Given the description of an element on the screen output the (x, y) to click on. 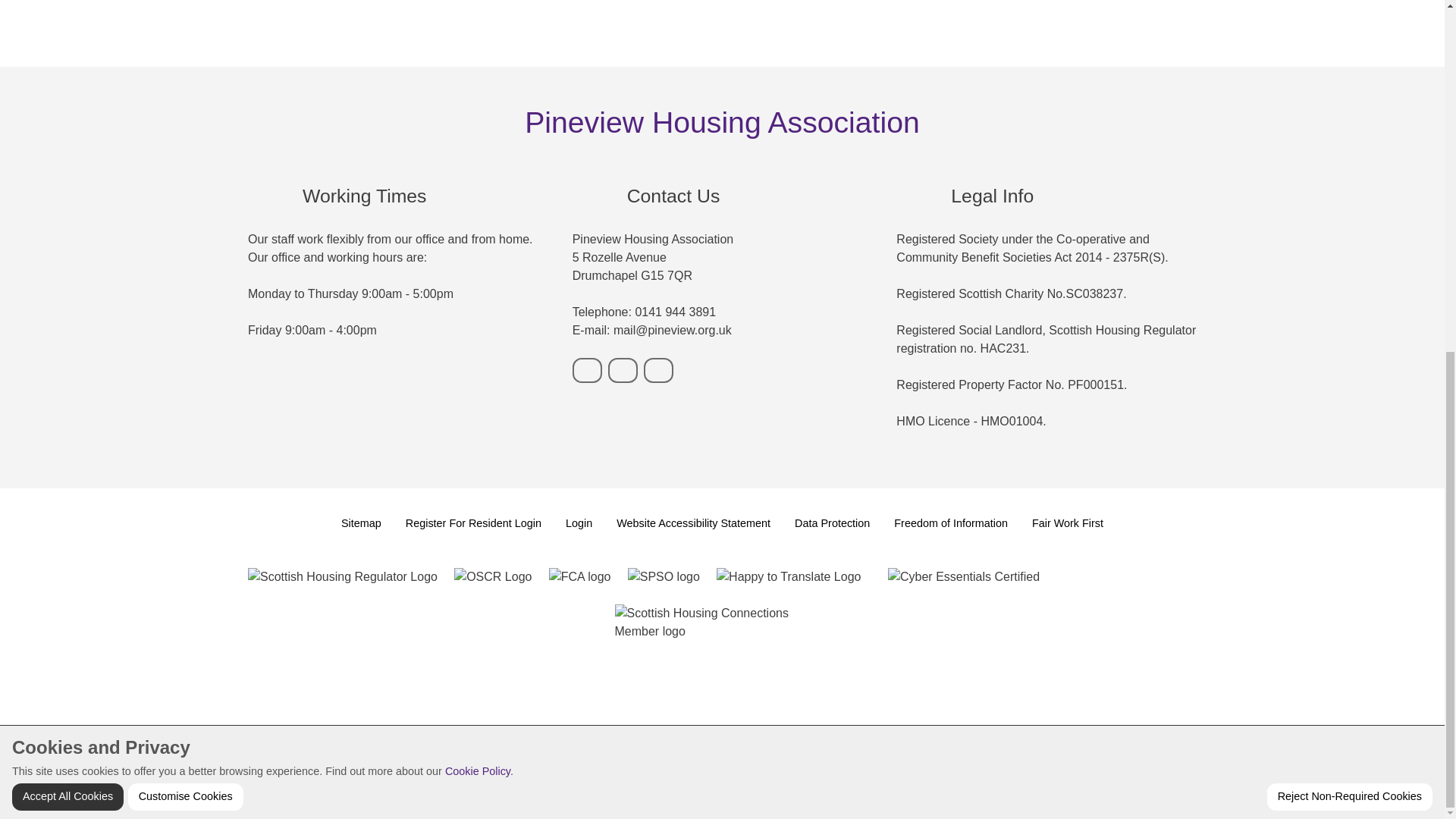
Email (622, 370)
Facebook (657, 370)
Phone (587, 370)
